Given the description of an element on the screen output the (x, y) to click on. 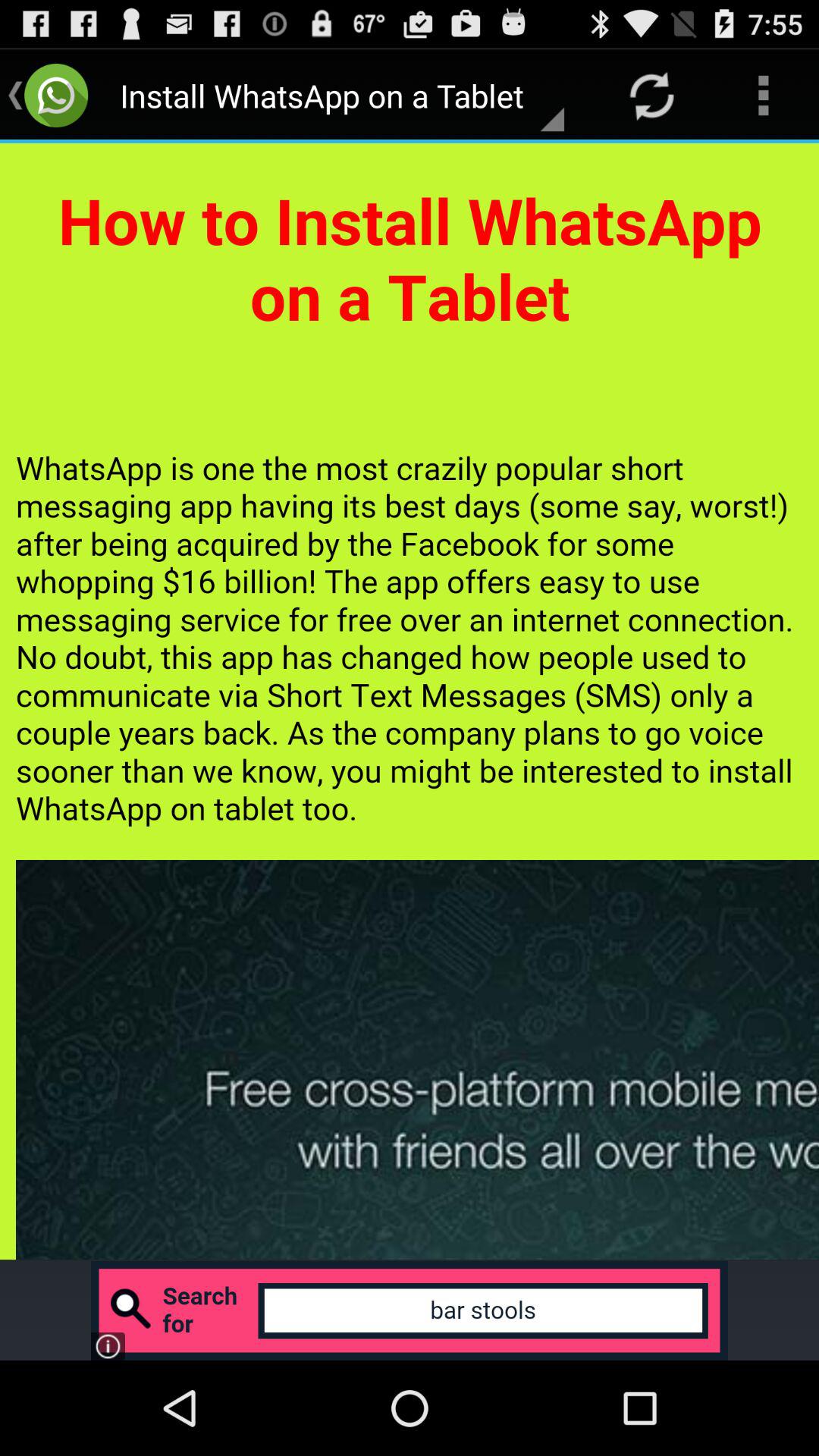
click advertisement banner (409, 1310)
